Given the description of an element on the screen output the (x, y) to click on. 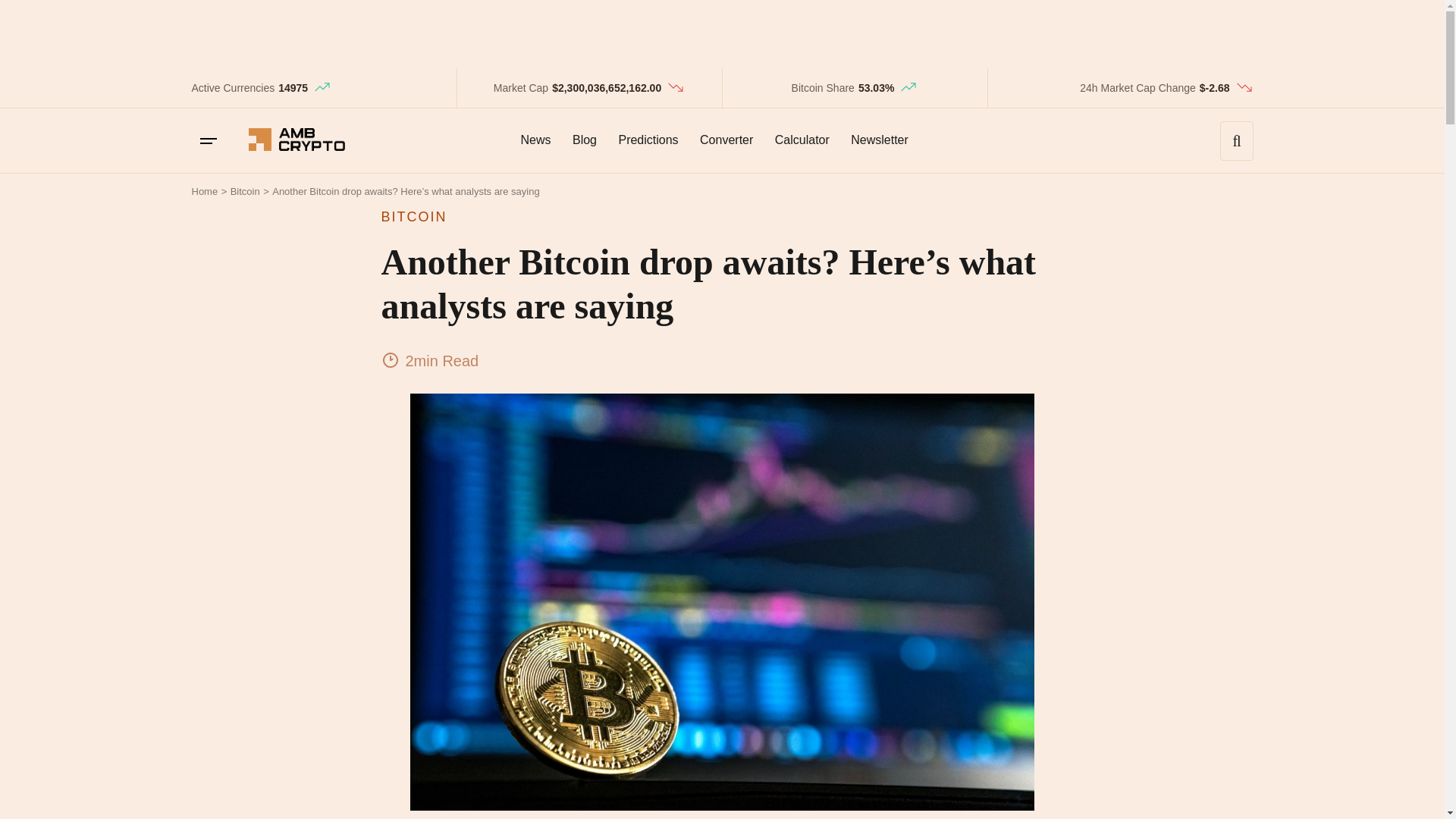
Converter (725, 139)
Newsletter (879, 139)
Predictions (647, 139)
Bitcoin (245, 191)
Blog (584, 139)
Home (203, 191)
Bitcoin (245, 191)
Calculator (801, 139)
Home (203, 191)
News (535, 139)
BITCOIN (721, 216)
